Given the description of an element on the screen output the (x, y) to click on. 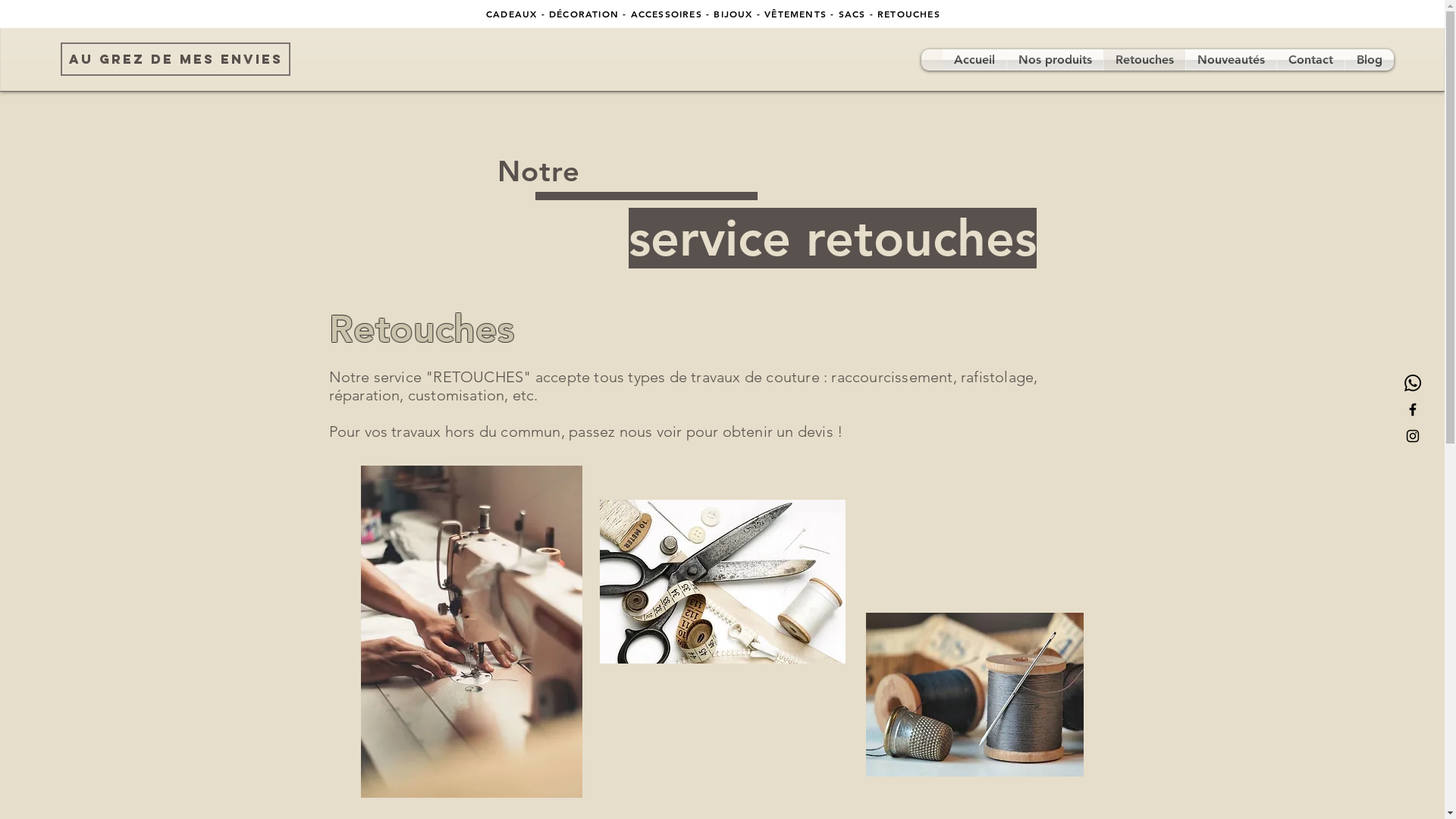
Accueil Element type: text (974, 59)
Nos produits Element type: text (1055, 59)
Retouches Element type: text (1144, 59)
Au Grez de mes envies Element type: text (175, 58)
Blog Element type: text (1369, 59)
Contact Element type: text (1310, 59)
